Given the description of an element on the screen output the (x, y) to click on. 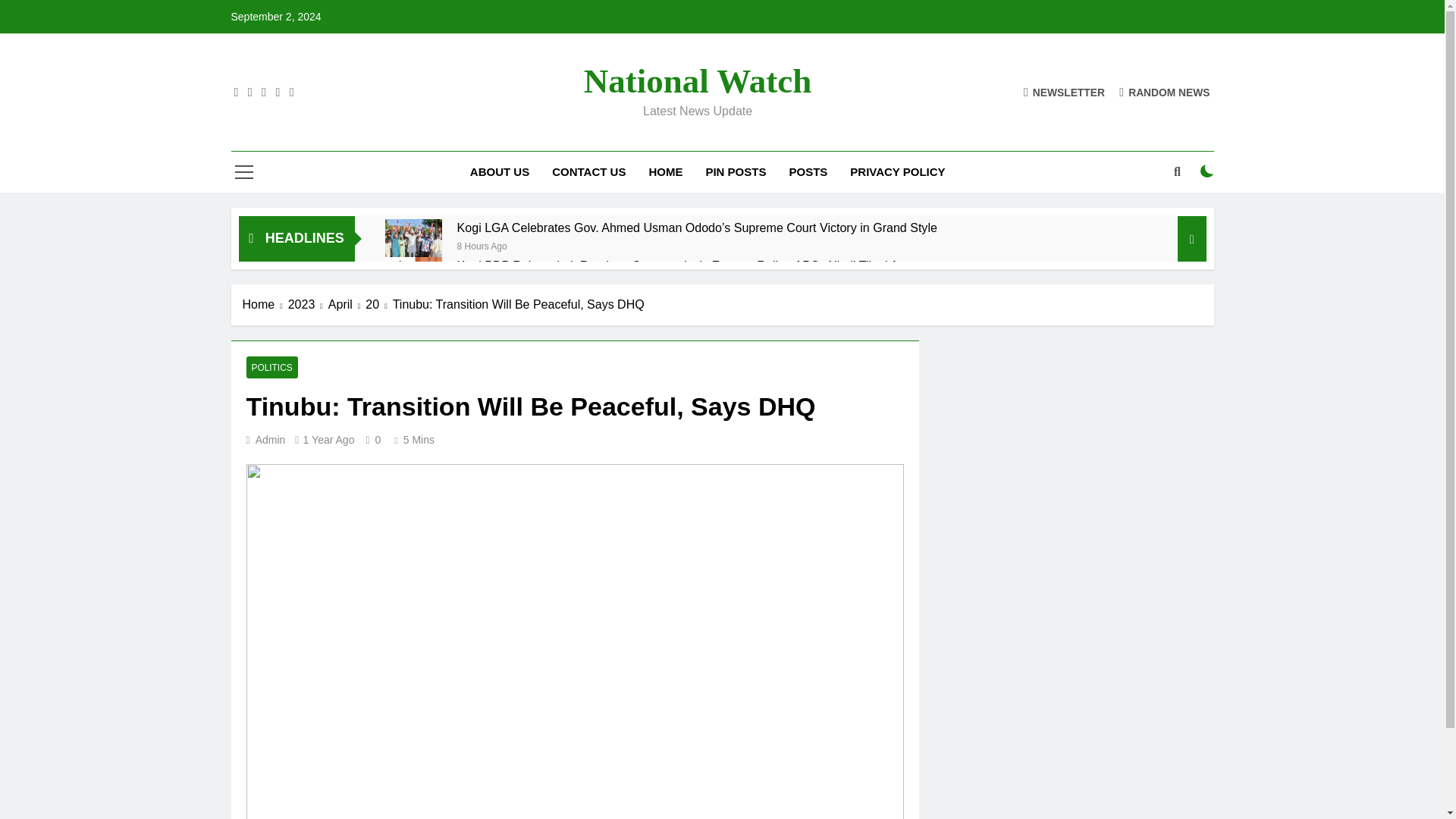
National Watch (696, 80)
RANDOM NEWS (1164, 91)
PRIVACY POLICY (897, 171)
PIN POSTS (735, 171)
NEWSLETTER (1064, 91)
CONTACT US (588, 171)
POSTS (807, 171)
